Given the description of an element on the screen output the (x, y) to click on. 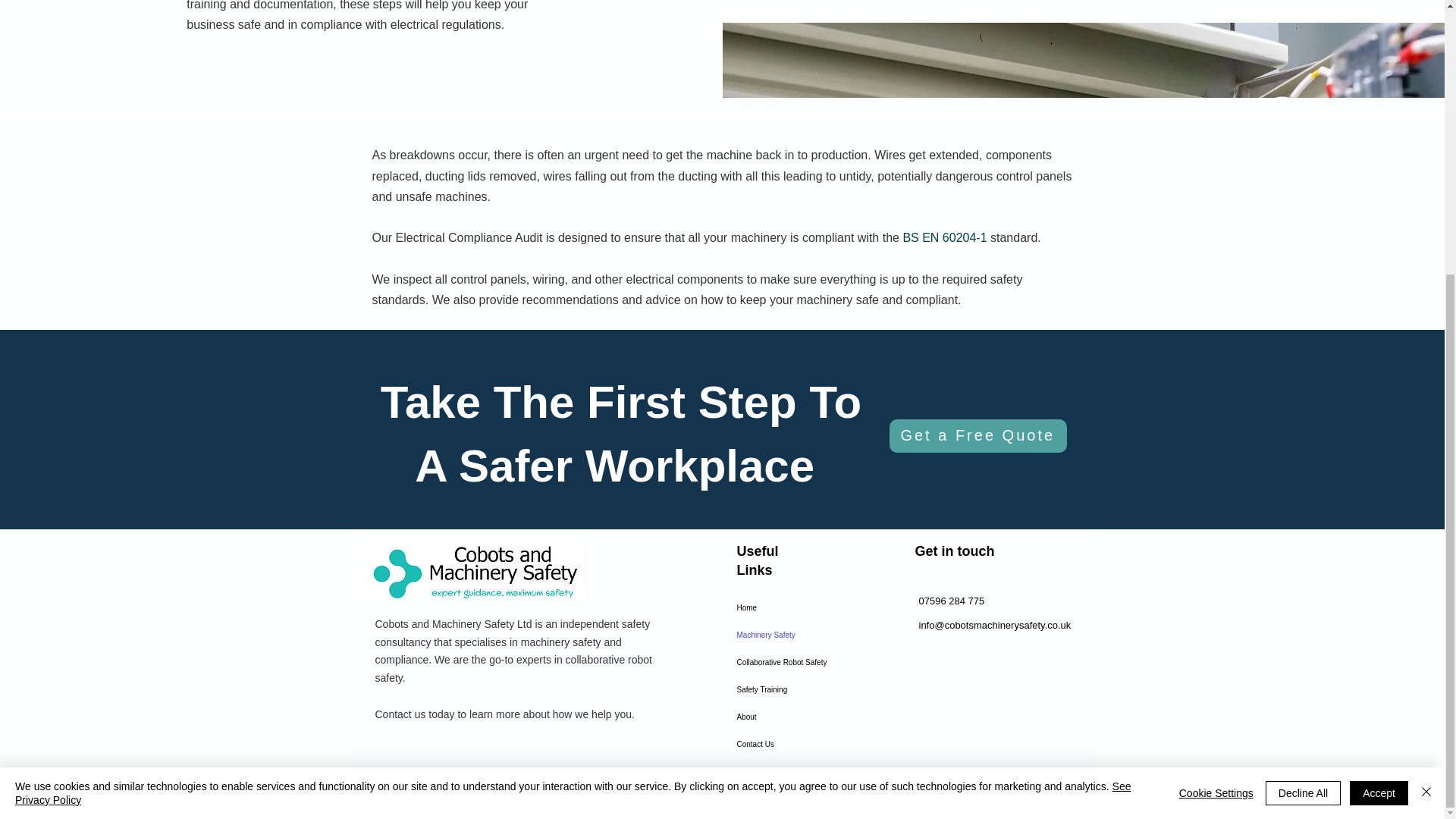
Safety Training (790, 689)
BS EN 60204-1 (944, 237)
Home (790, 607)
Get a Free Quote (976, 435)
Machinery Safety (790, 635)
